Given the description of an element on the screen output the (x, y) to click on. 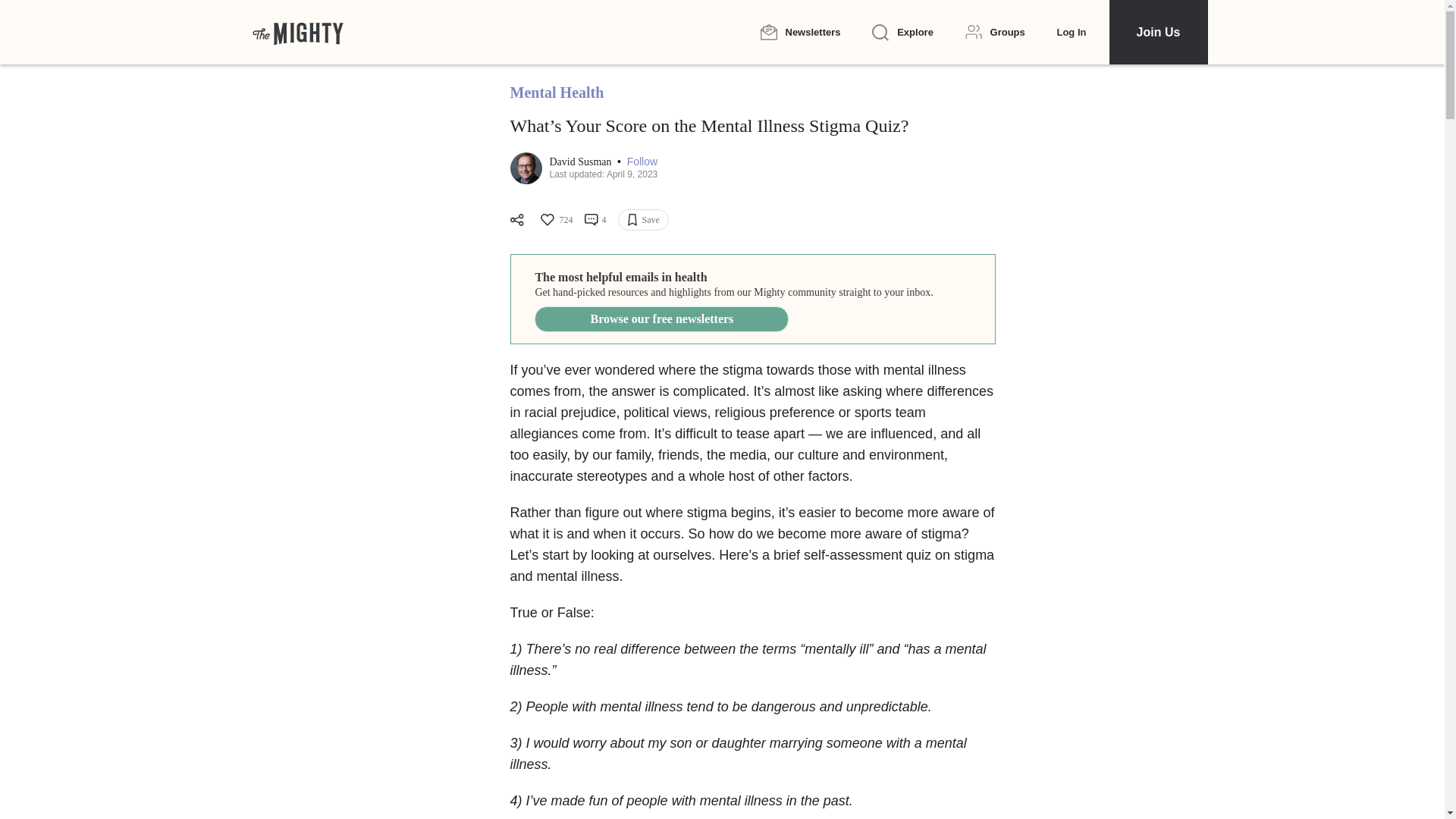
Follow (642, 161)
Join Us (1157, 32)
Newsletters (800, 31)
Explore (902, 32)
Browse our free newsletters (661, 319)
The Mighty (296, 32)
David Susman (581, 161)
4 (594, 219)
724 (555, 219)
Mental Health (556, 92)
